Given the description of an element on the screen output the (x, y) to click on. 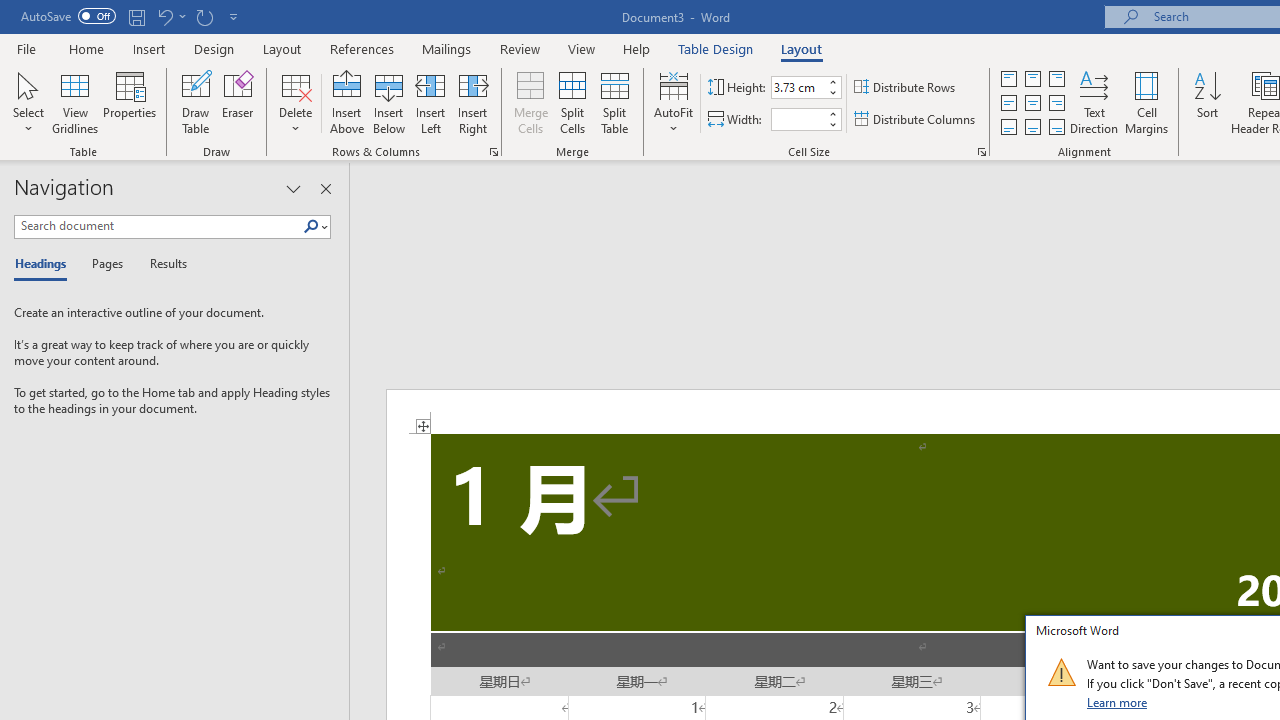
Insert Right (472, 102)
Insert Cells... (493, 151)
Distribute Columns (916, 119)
Table Row Height (797, 87)
Properties... (981, 151)
Align Top Center (1032, 78)
Undo Increase Indent (164, 15)
Undo Increase Indent (170, 15)
